Given the description of an element on the screen output the (x, y) to click on. 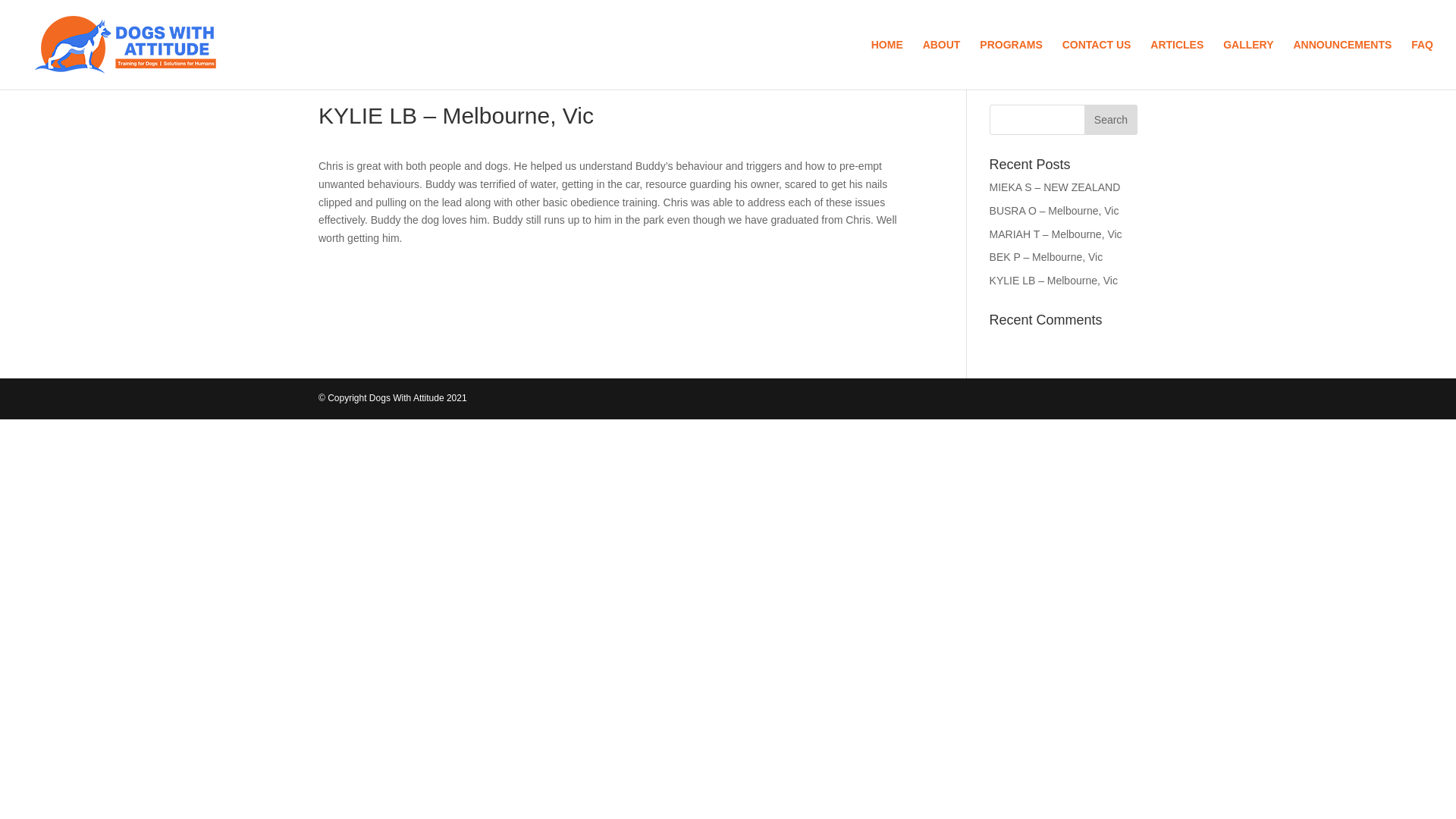
PROGRAMS (1010, 64)
ANNOUNCEMENTS (1341, 64)
Search (1110, 119)
GALLERY (1247, 64)
Search (1110, 119)
CONTACT US (1096, 64)
ARTICLES (1177, 64)
